Given the description of an element on the screen output the (x, y) to click on. 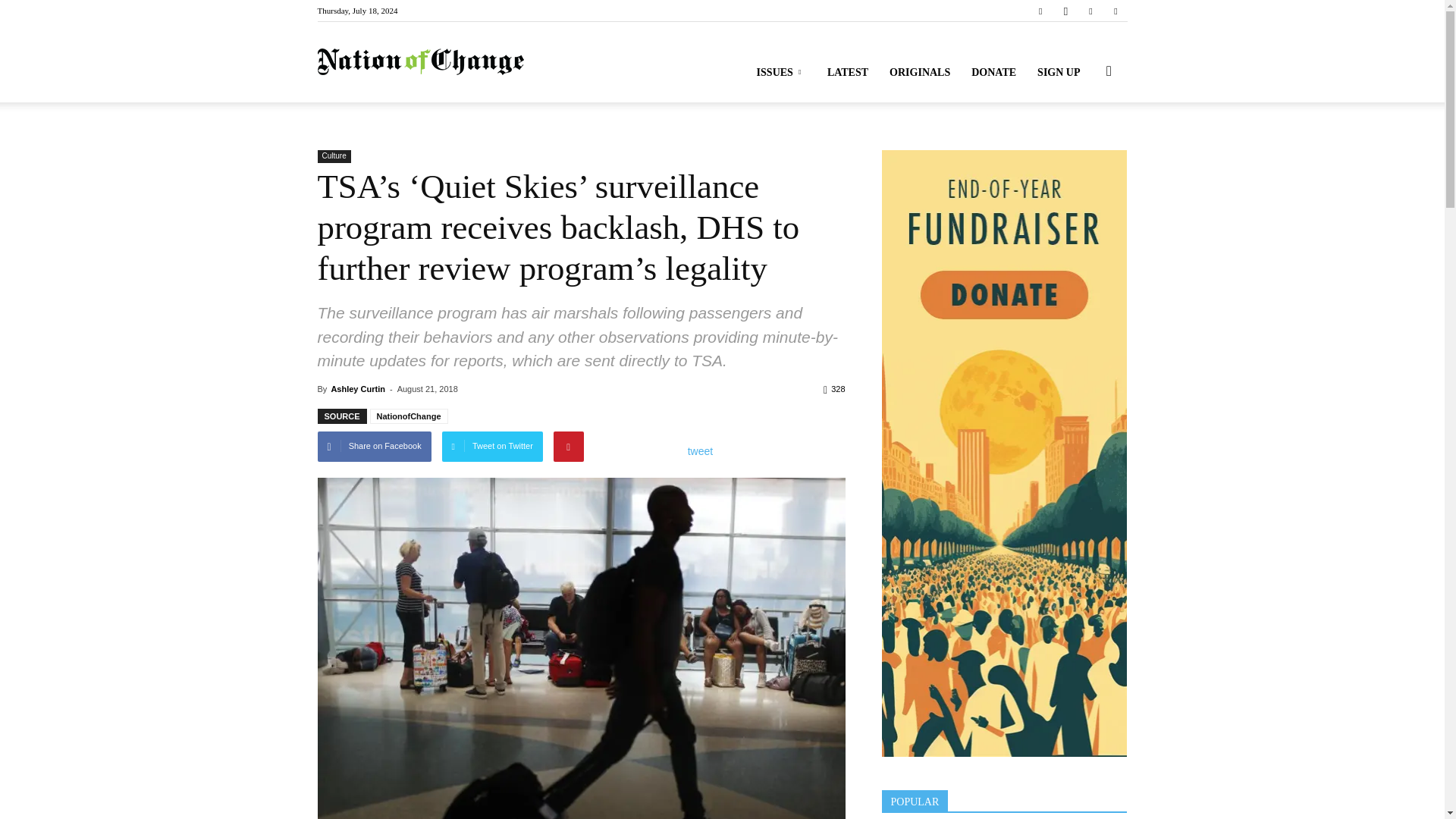
NationofChange (419, 61)
Youtube (1114, 10)
Instagram (1065, 10)
Facebook (1040, 10)
ISSUES (780, 72)
Twitter (1090, 10)
